Given the description of an element on the screen output the (x, y) to click on. 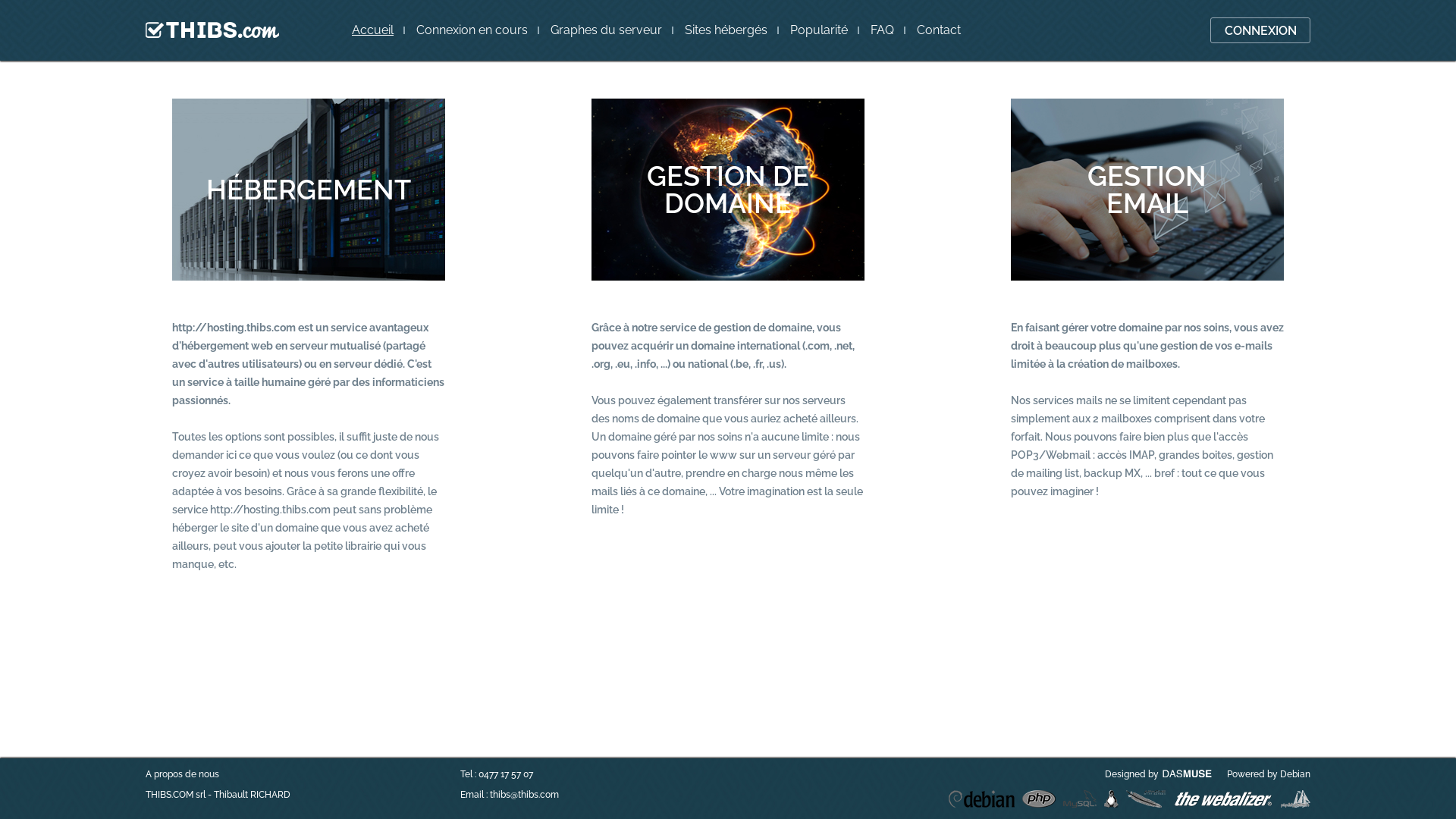
Graphes du serveur Element type: text (606, 29)
thibs@thibs.com Element type: text (523, 794)
FAQ Element type: text (882, 29)
A propos de nous Element type: text (182, 773)
THIBS.COM srl Element type: text (175, 794)
Contact Element type: text (938, 29)
Connexion en cours Element type: text (471, 29)
Forgot Password ? Element type: text (623, 37)
Accueil Element type: text (372, 29)
